Given the description of an element on the screen output the (x, y) to click on. 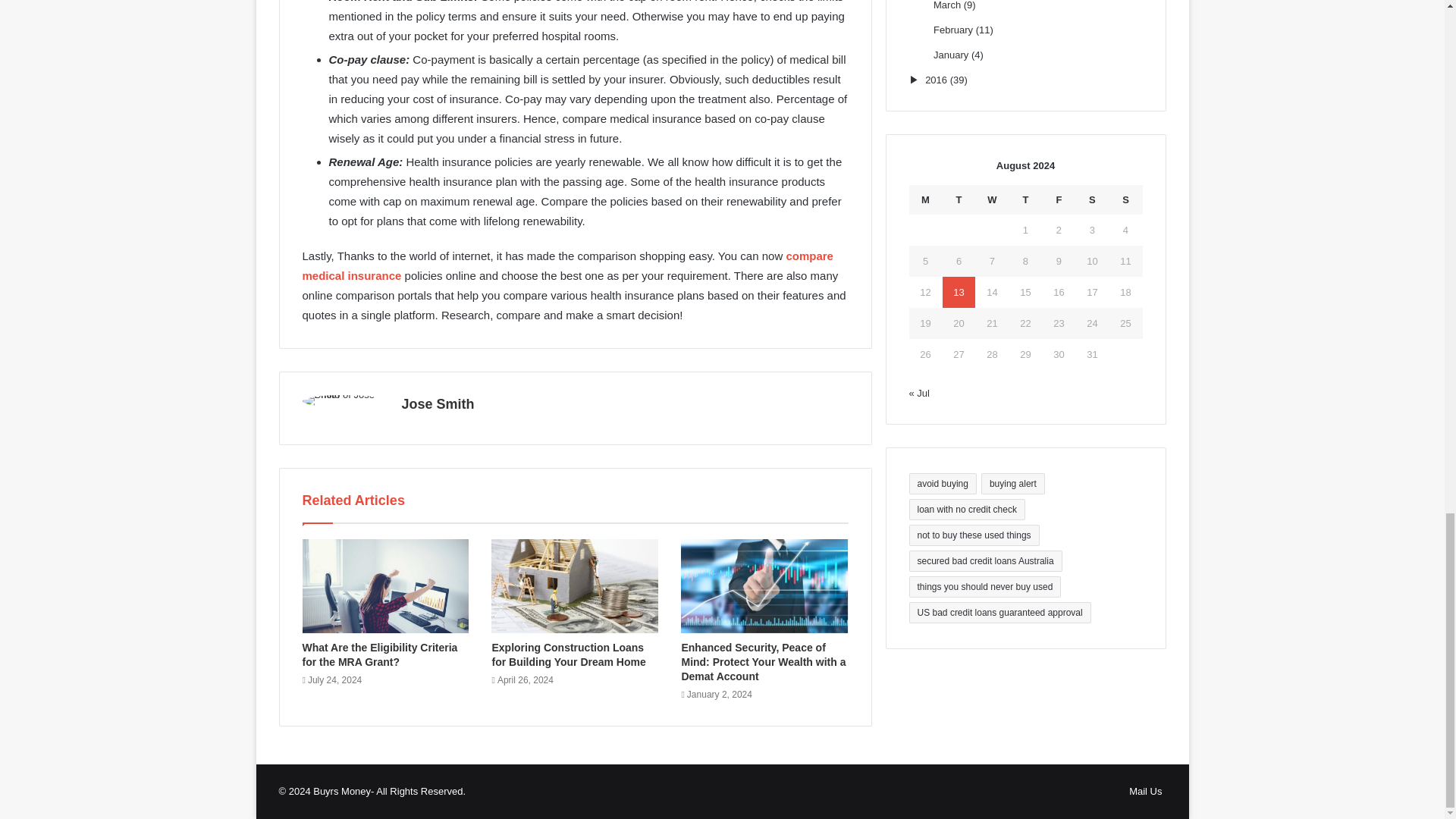
compare medical insurance (566, 265)
What Are the Eligibility Criteria for the MRA Grant? (379, 654)
Sunday (1124, 199)
Thursday (1025, 199)
Exploring Construction Loans for Building Your Dream Home (568, 654)
Saturday (1091, 199)
Wednesday (992, 199)
Friday (1058, 199)
Monday (925, 199)
